Given the description of an element on the screen output the (x, y) to click on. 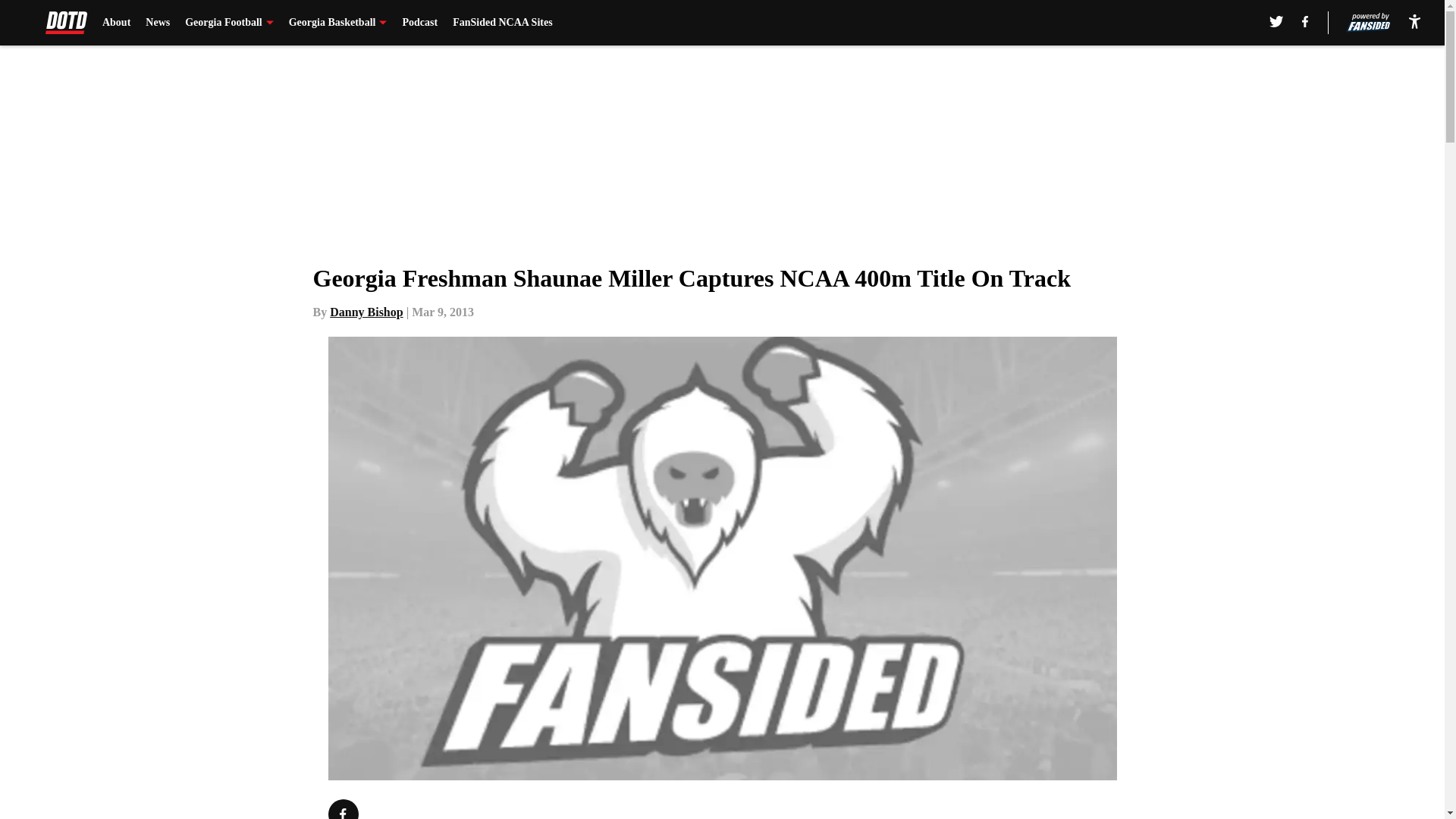
About (116, 22)
News (157, 22)
Danny Bishop (366, 311)
Podcast (419, 22)
FanSided NCAA Sites (501, 22)
